Given the description of an element on the screen output the (x, y) to click on. 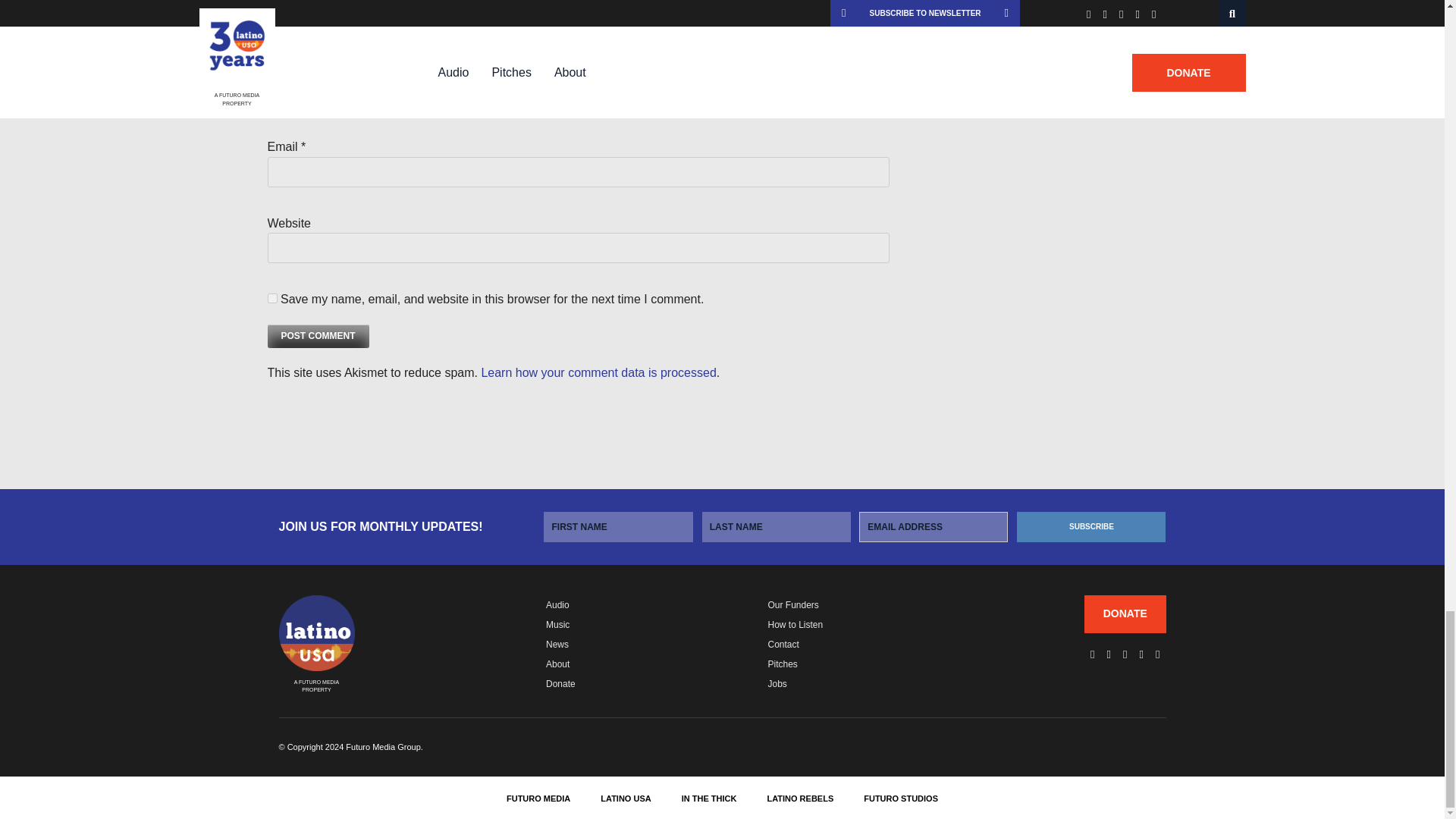
Subscribe (1091, 526)
Post Comment (317, 336)
yes (271, 298)
